Given the description of an element on the screen output the (x, y) to click on. 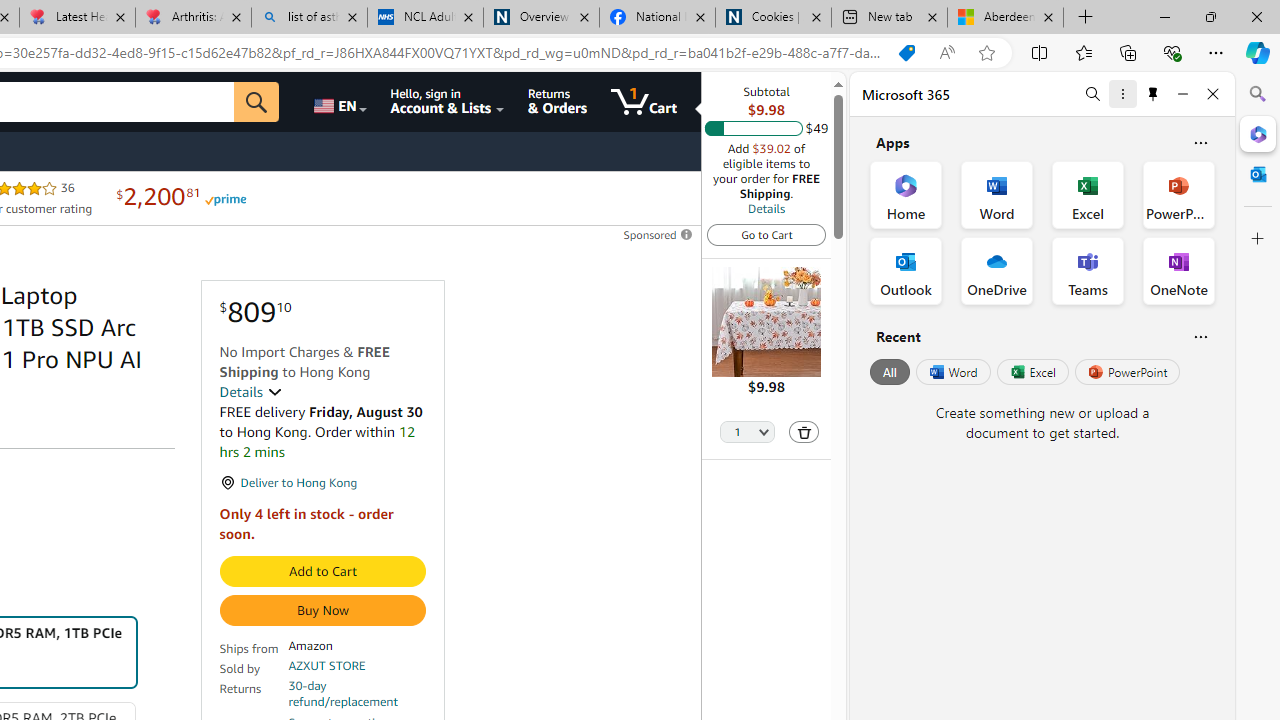
Go (257, 101)
